Given the description of an element on the screen output the (x, y) to click on. 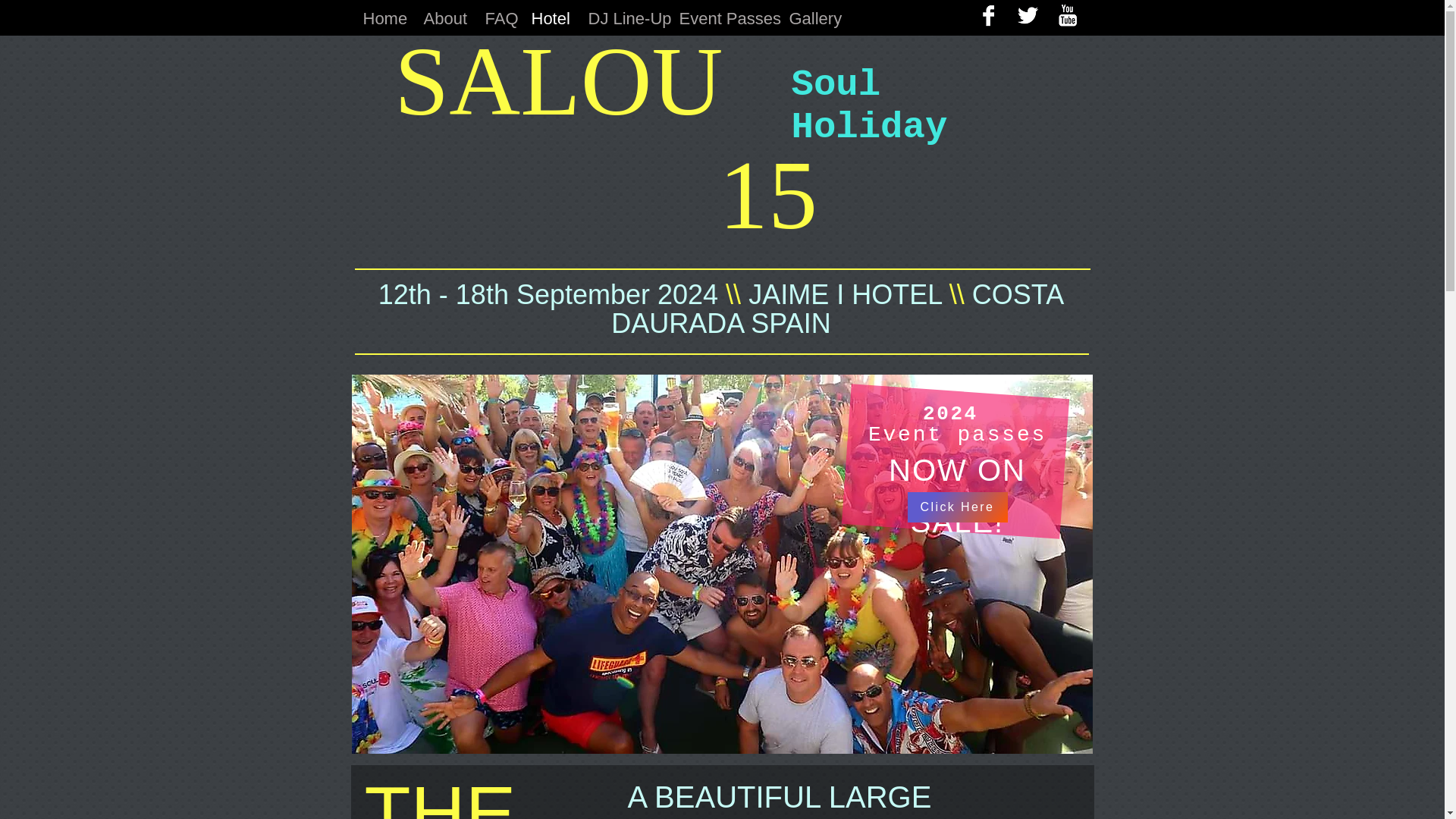
Hotel (547, 19)
DJ Line-Up (621, 19)
Home (382, 19)
Gallery (812, 19)
Event Passes (721, 19)
About (443, 19)
Click Here (957, 507)
FAQ (496, 19)
